Given the description of an element on the screen output the (x, y) to click on. 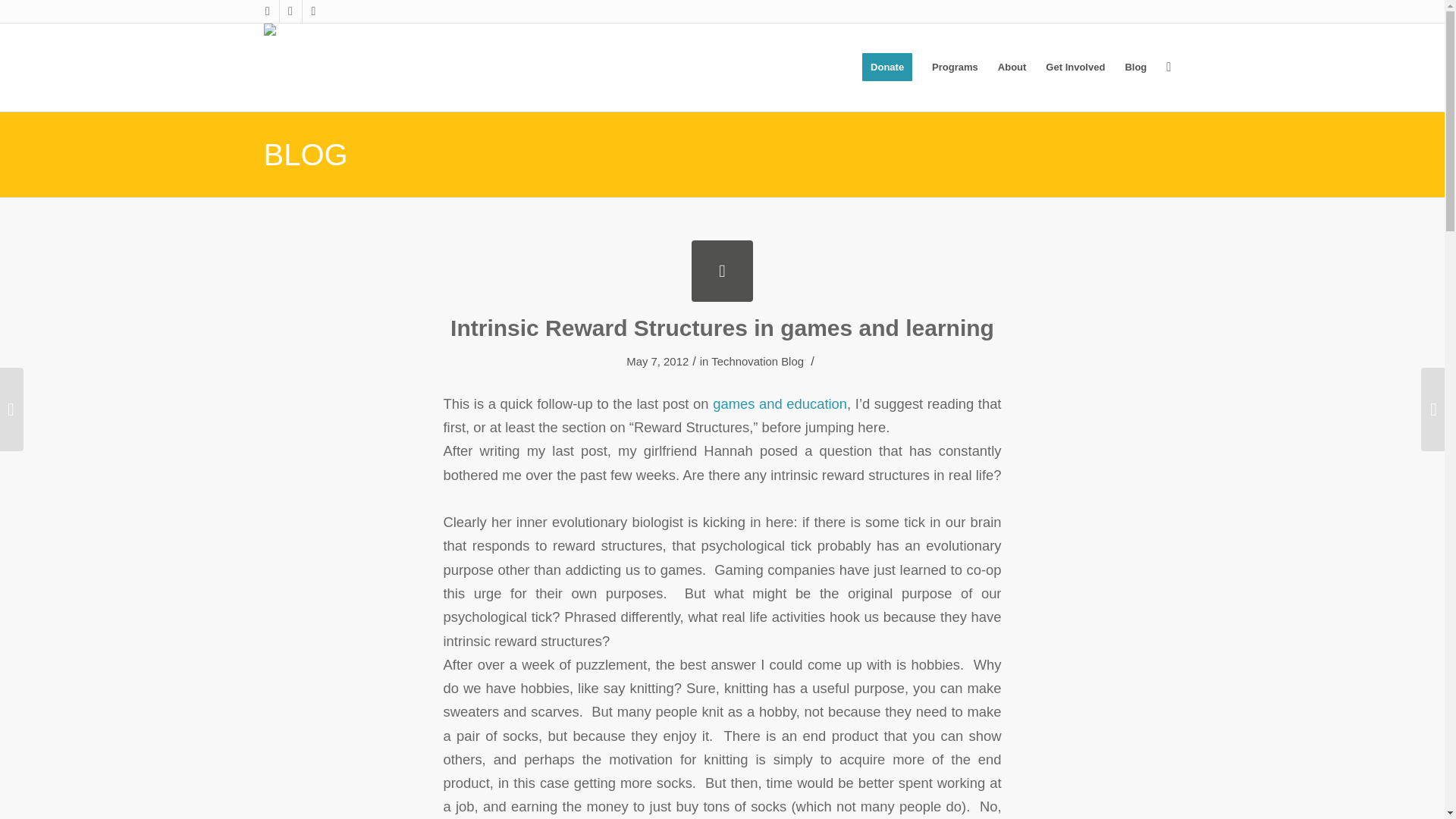
BLOG (305, 154)
Twitter (312, 11)
Technovation Blog (757, 361)
Permanent Link: Blog (305, 154)
Facebook (290, 11)
games and education (780, 403)
Intrinsic Reward Structures in games and learning (721, 271)
Instagram (267, 11)
Get Involved (1075, 67)
Intrinsic Reward Structures in games and learning (721, 327)
